Given the description of an element on the screen output the (x, y) to click on. 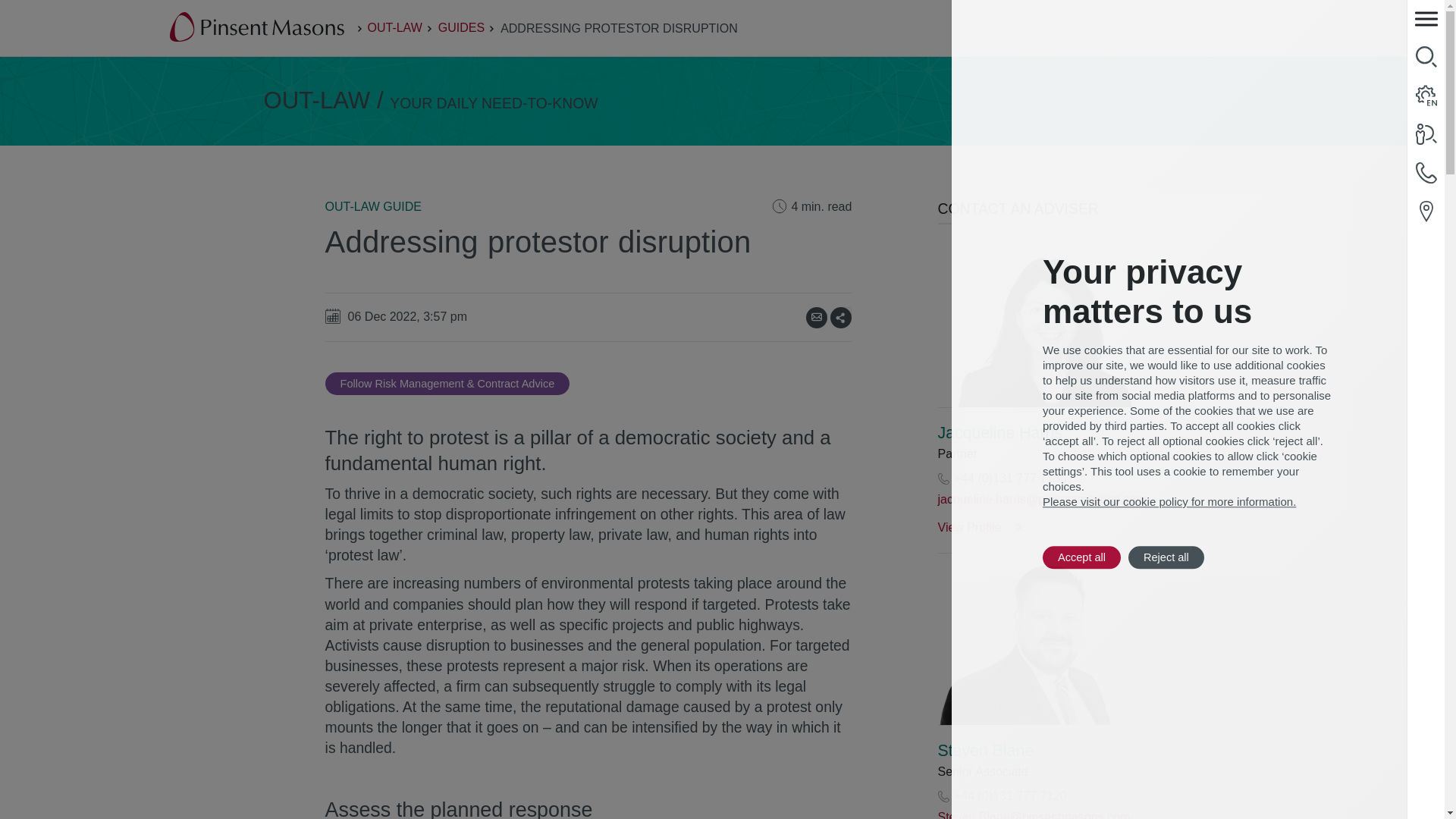
Pinsent Masons (257, 28)
GUIDES (461, 27)
OUT-LAW (394, 27)
on (846, 311)
Save in your preference settings (447, 383)
Email (816, 317)
